Given the description of an element on the screen output the (x, y) to click on. 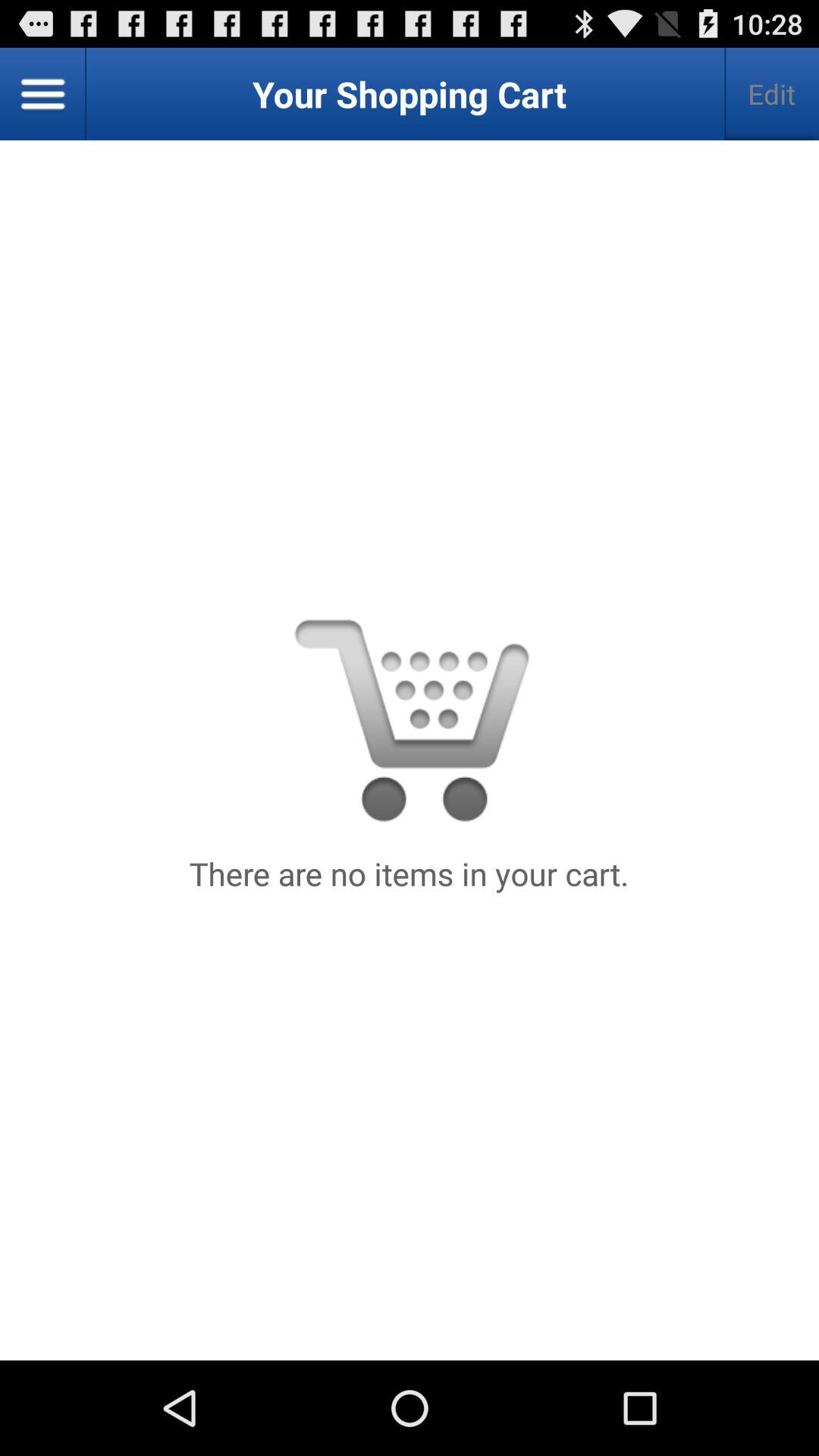
jump to the edit item (771, 93)
